Given the description of an element on the screen output the (x, y) to click on. 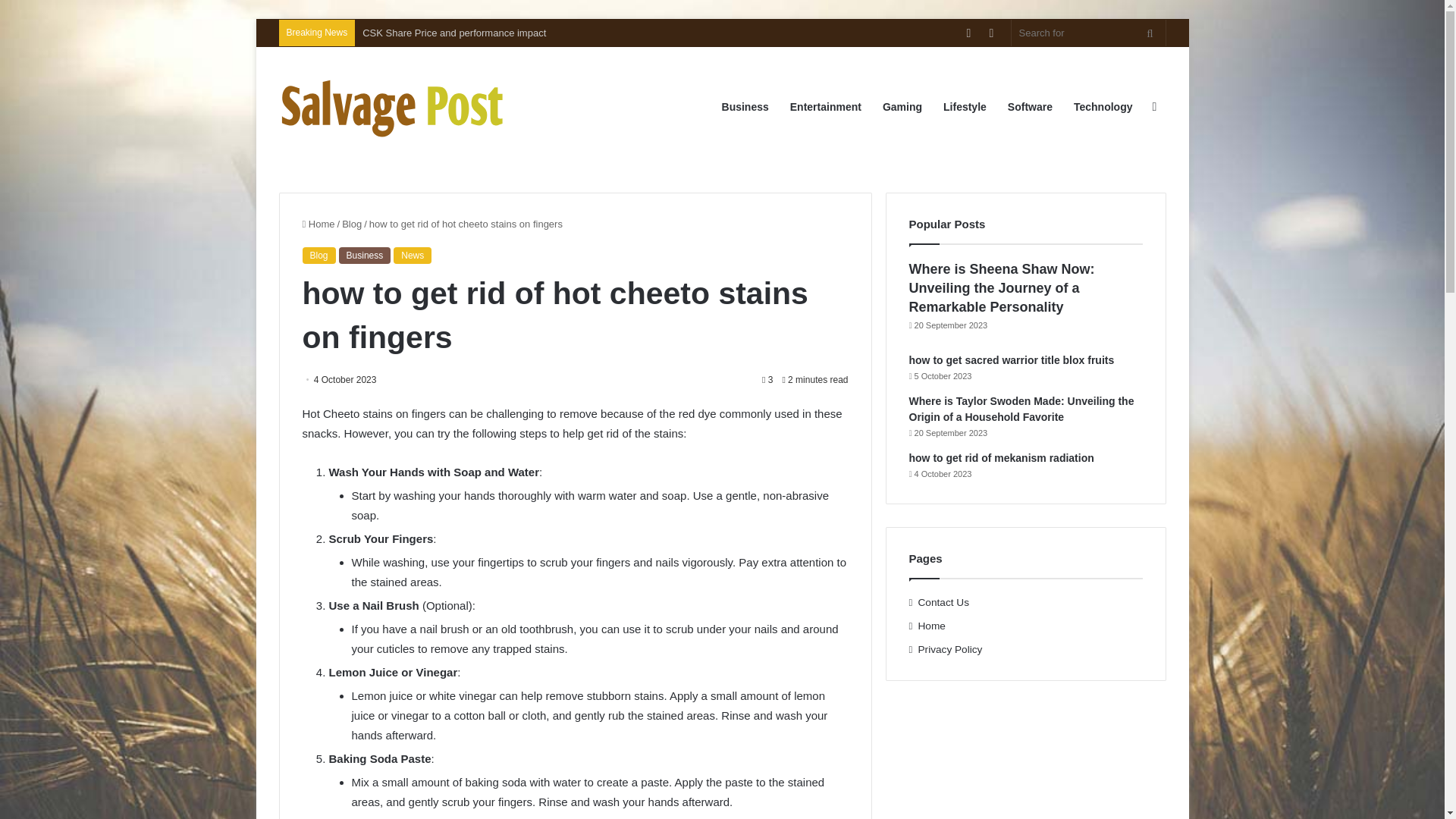
Search for (1088, 32)
Salvage Post (392, 106)
Blog (317, 255)
News (411, 255)
Blog (351, 224)
CSK Share Price and performance impact  (455, 32)
Home (317, 224)
Search for (1149, 32)
Business (365, 255)
